Given the description of an element on the screen output the (x, y) to click on. 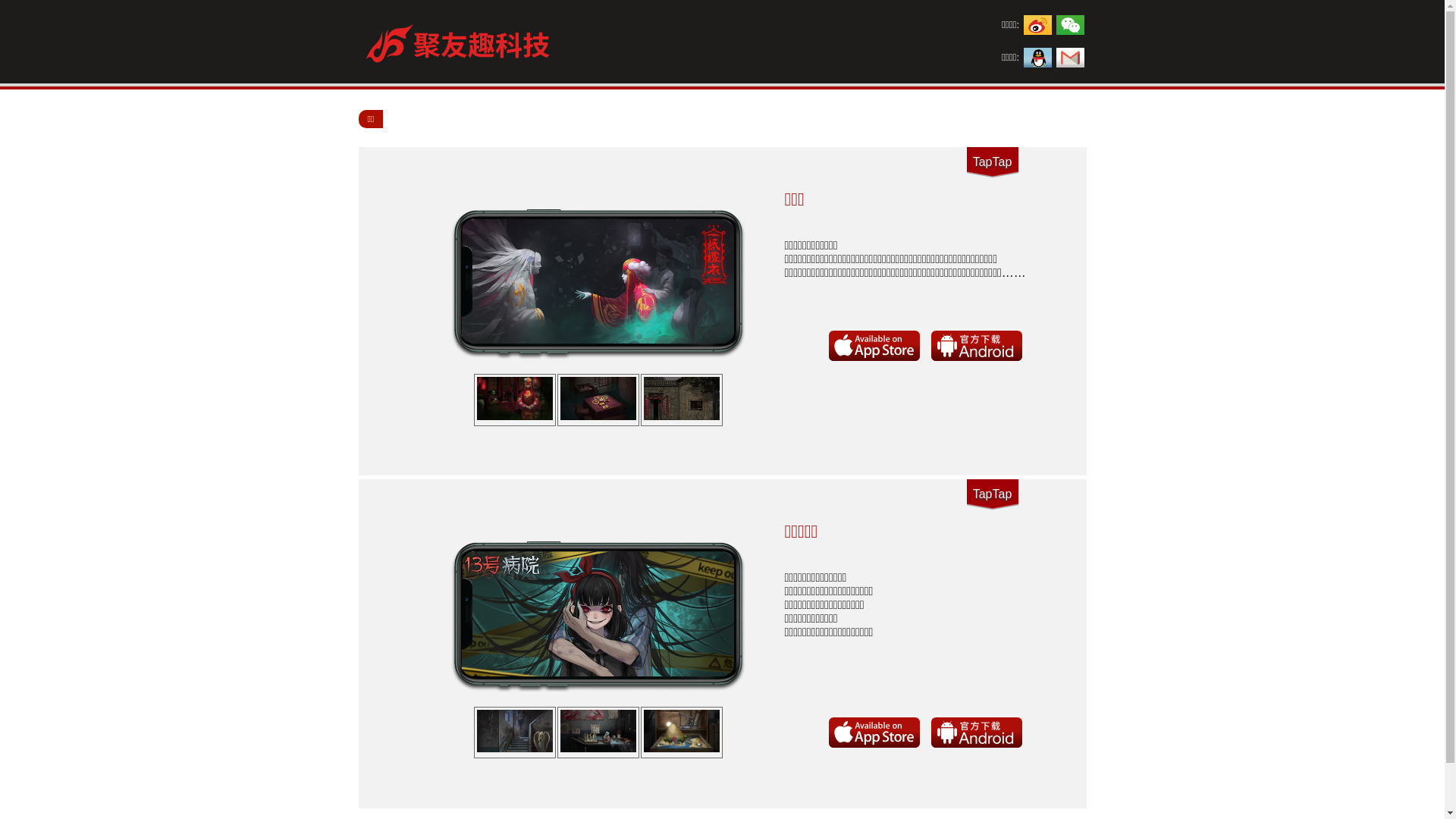
TapTap Element type: text (991, 162)
TapTap Element type: text (991, 494)
